Given the description of an element on the screen output the (x, y) to click on. 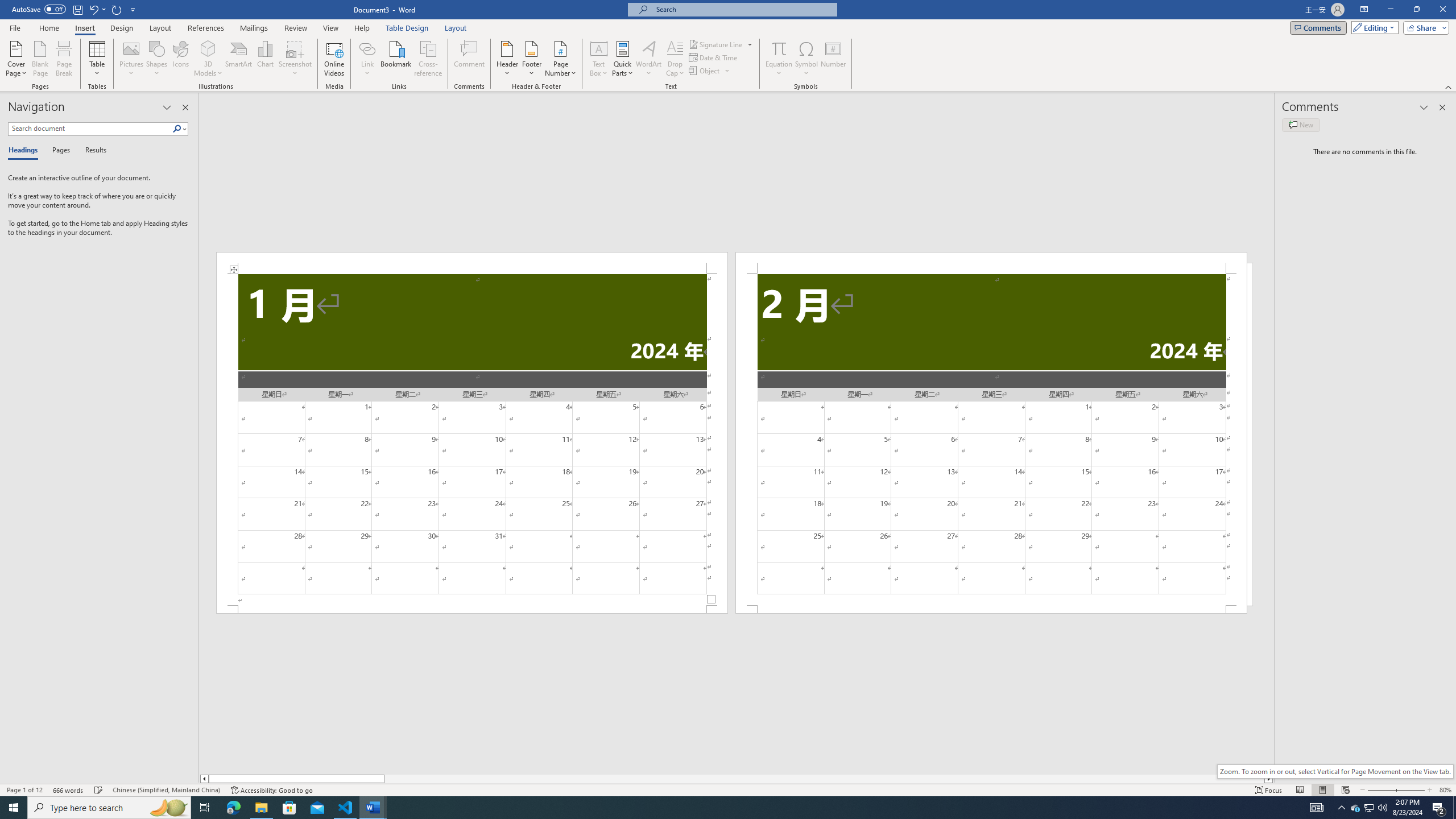
Header (507, 58)
Footer -Section 1- (471, 609)
Repeat Doc Close (117, 9)
Bookmark... (396, 58)
Symbol (806, 58)
